Given the description of an element on the screen output the (x, y) to click on. 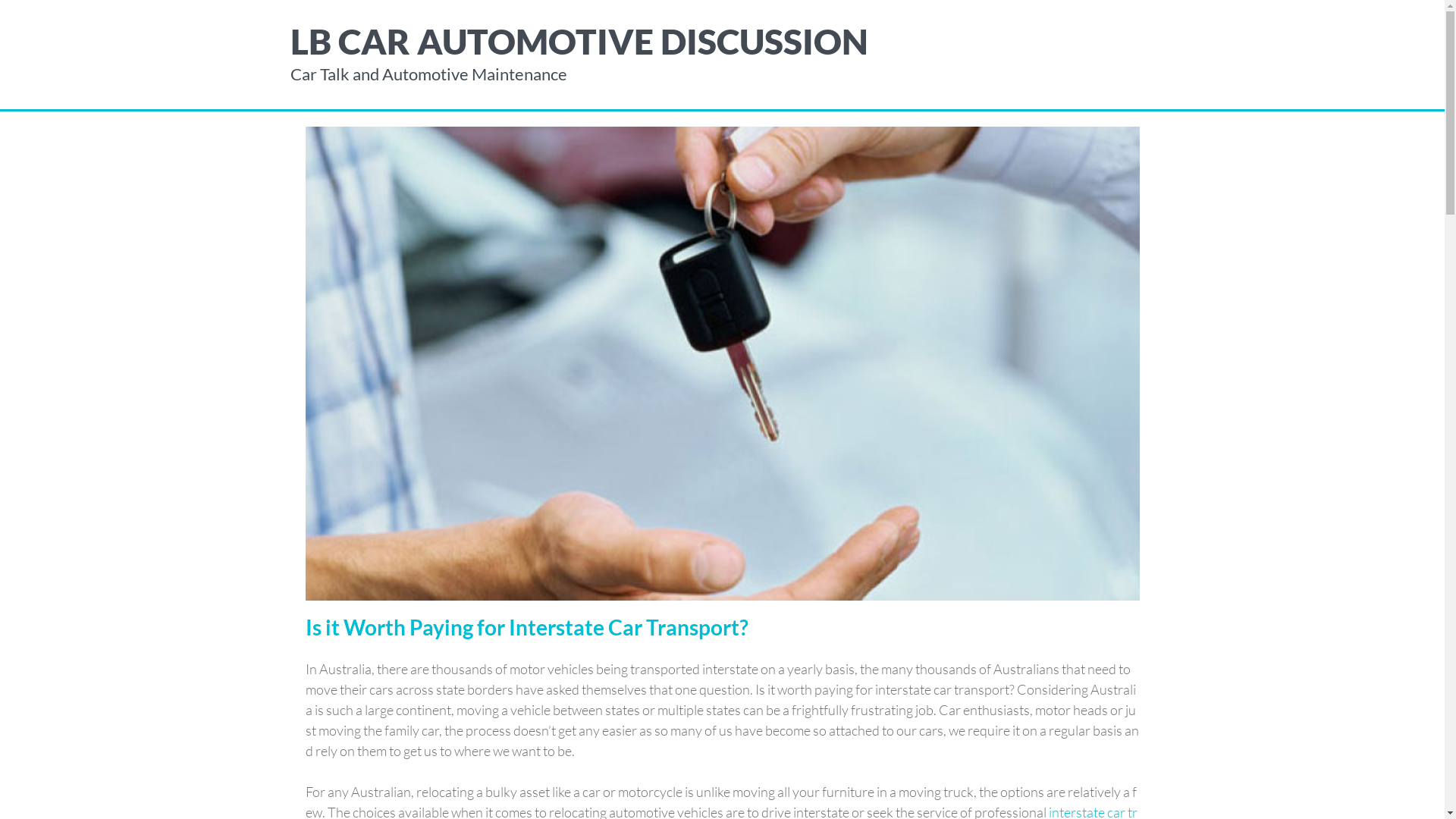
Skip to content Element type: text (0, 0)
Is it Worth Paying for Interstate Car Transport? Element type: text (525, 627)
LB CAR AUTOMOTIVE DISCUSSION Element type: text (578, 41)
Is it Worth Paying for Interstate Car Transport? Element type: hover (721, 361)
